Given the description of an element on the screen output the (x, y) to click on. 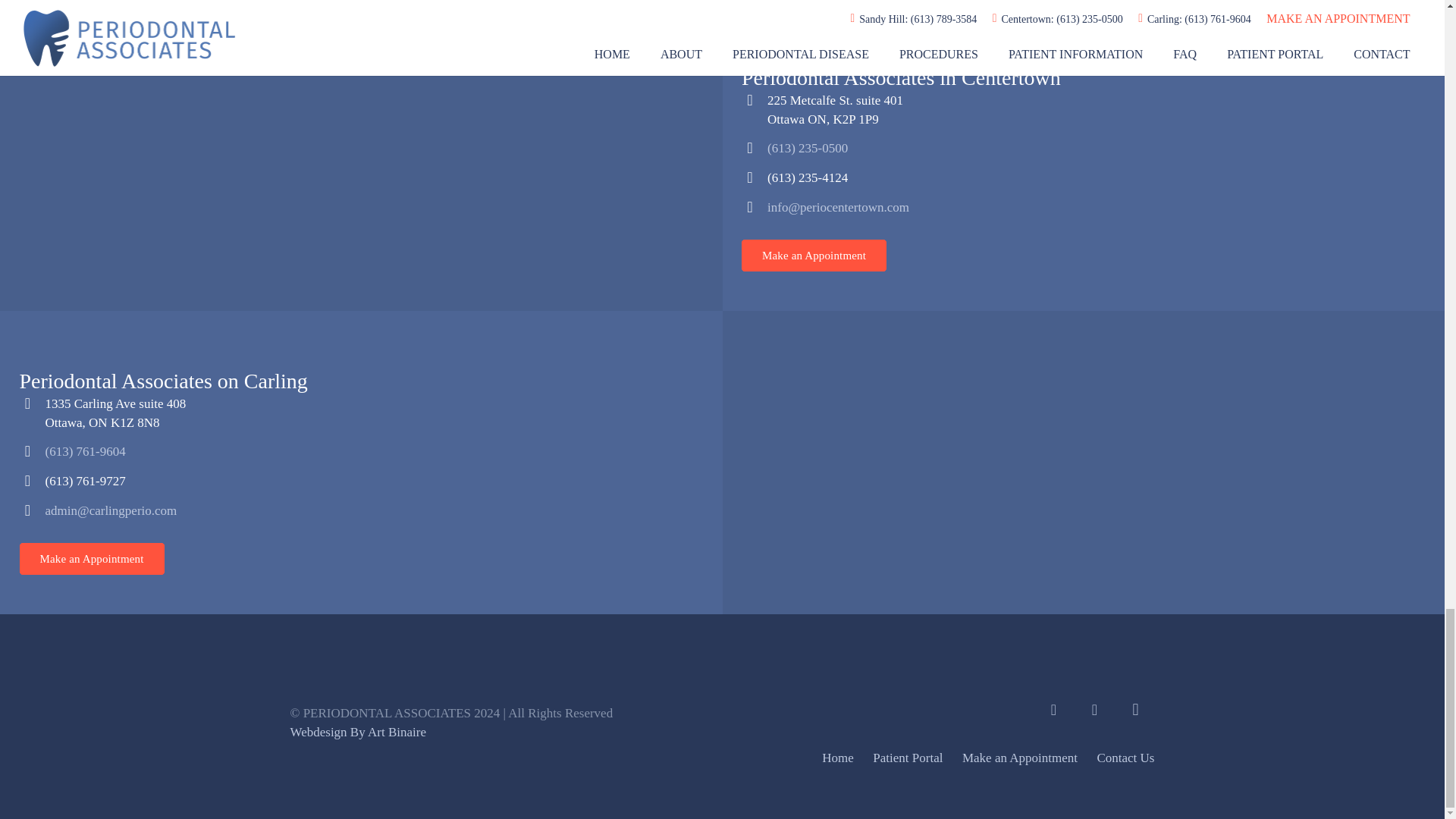
Email (1094, 709)
Instagram (1135, 709)
Facebook (1052, 709)
